Given the description of an element on the screen output the (x, y) to click on. 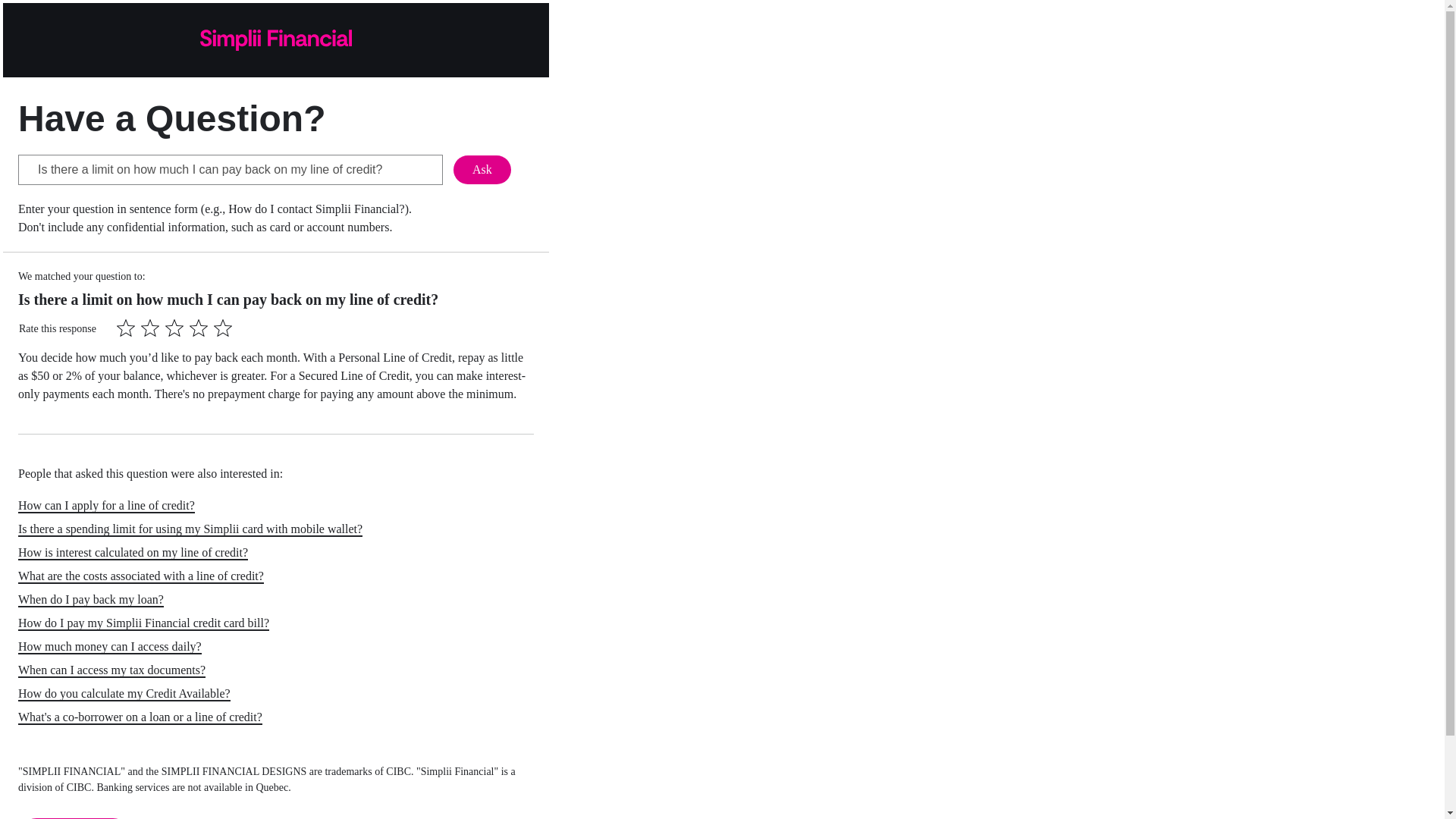
How much money can I access daily? (109, 646)
50 (174, 327)
How is interest calculated on my line of credit? (132, 553)
When can I access my tax documents? (111, 670)
What's a co-borrower on a loan or a line of credit? (139, 717)
Ask (481, 169)
How do you calculate my Credit Available? (123, 694)
What are the costs associated with a line of credit? (140, 576)
25 (149, 327)
How can I apply for a line of credit? (106, 505)
100 (222, 327)
75 (198, 327)
Ask (481, 169)
